Given the description of an element on the screen output the (x, y) to click on. 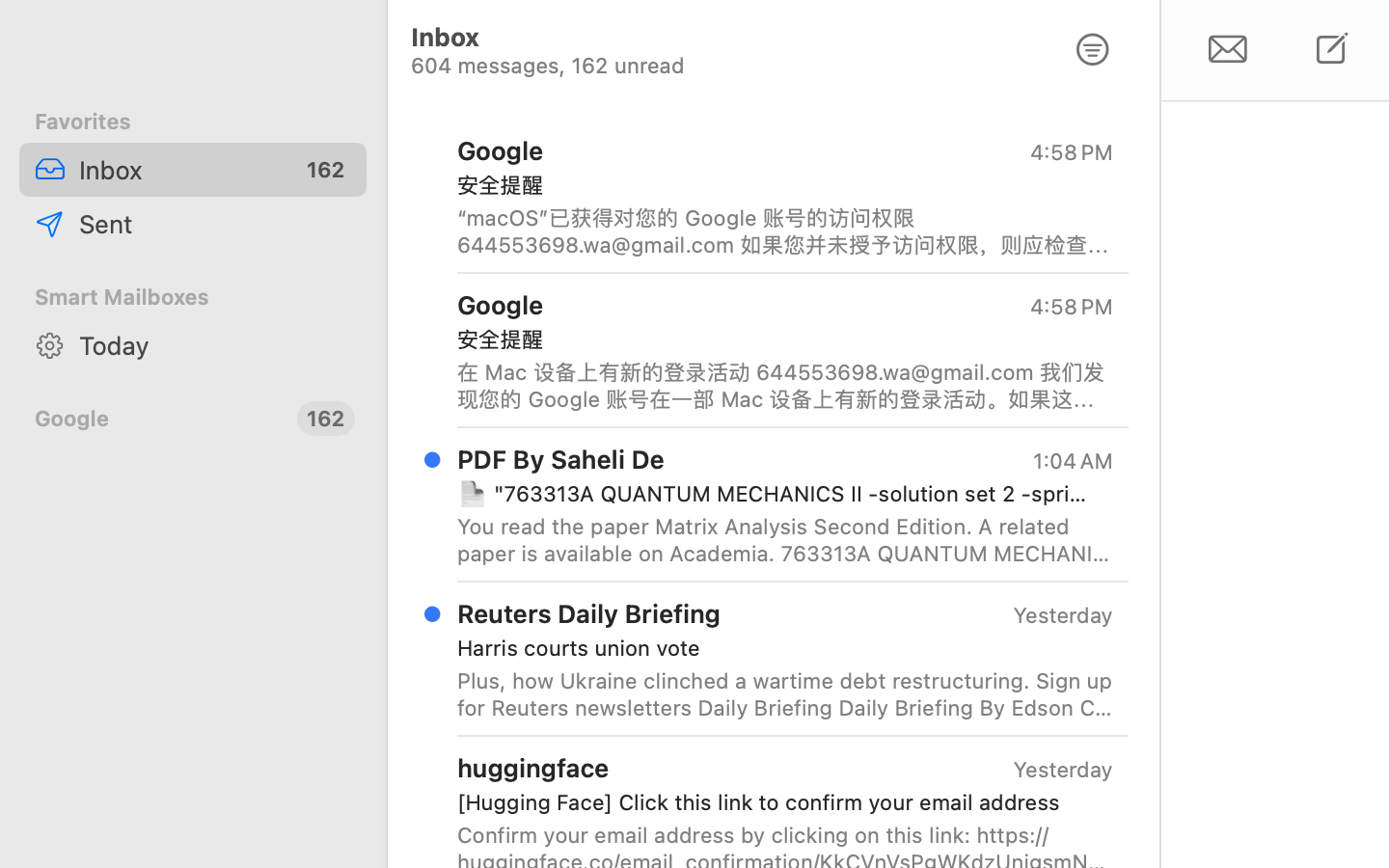
0.0 Element type: AXValueIndicator (1147, 127)
huggingface Element type: AXStaticText (533, 767)
1:04 AM Element type: AXStaticText (1071, 460)
Reuters Daily Briefing Element type: AXStaticText (589, 612)
4:58 PM Element type: AXStaticText (1071, 151)
